Given the description of an element on the screen output the (x, y) to click on. 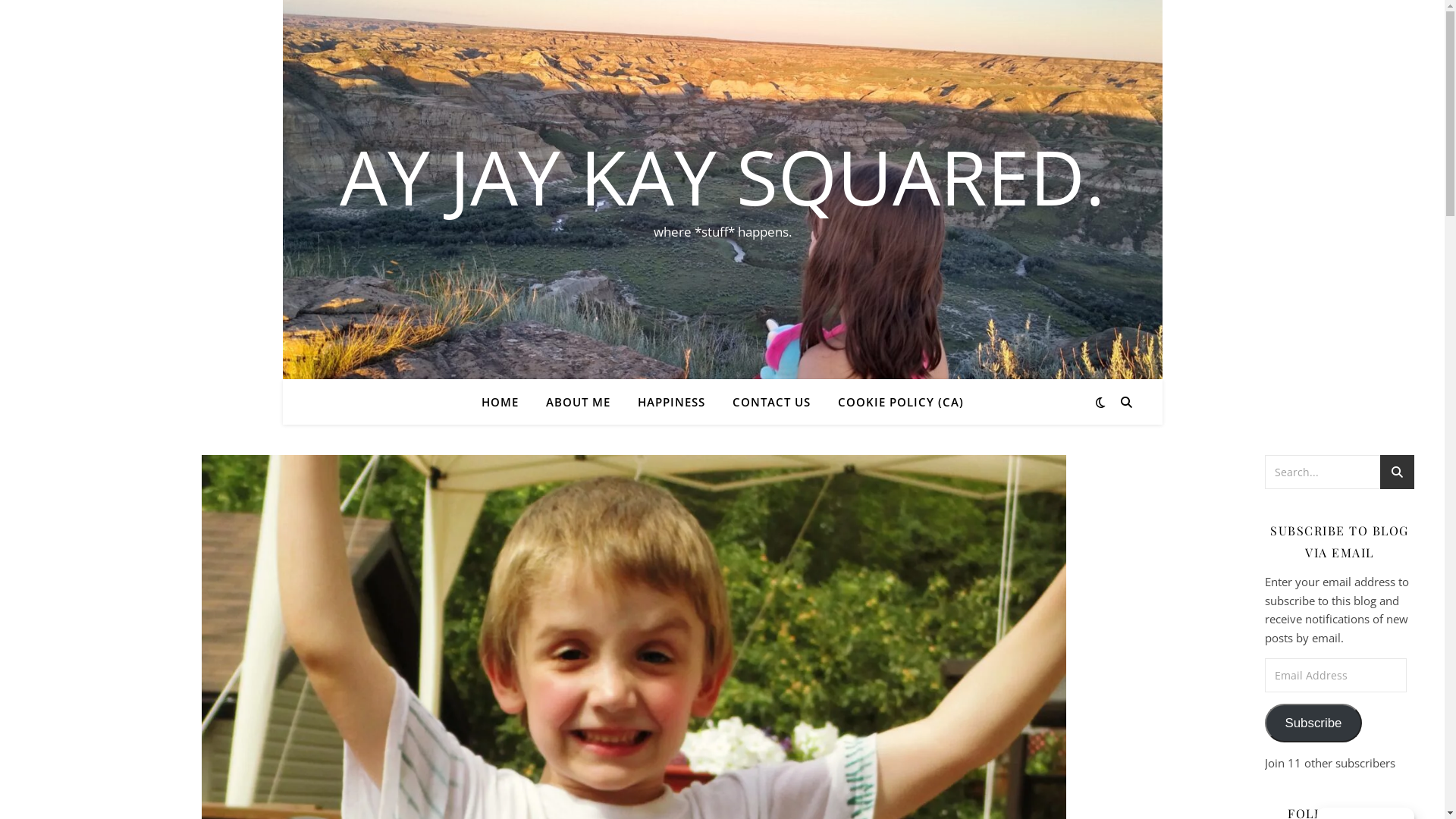
Subscribe Element type: text (1312, 722)
ABOUT ME Element type: text (577, 401)
st Element type: text (1397, 474)
HOME Element type: text (505, 401)
COOKIE POLICY (CA) Element type: text (894, 401)
HAPPINESS Element type: text (670, 401)
CONTACT US Element type: text (771, 401)
AY JAY KAY SQUARED. Element type: text (721, 175)
